Given the description of an element on the screen output the (x, y) to click on. 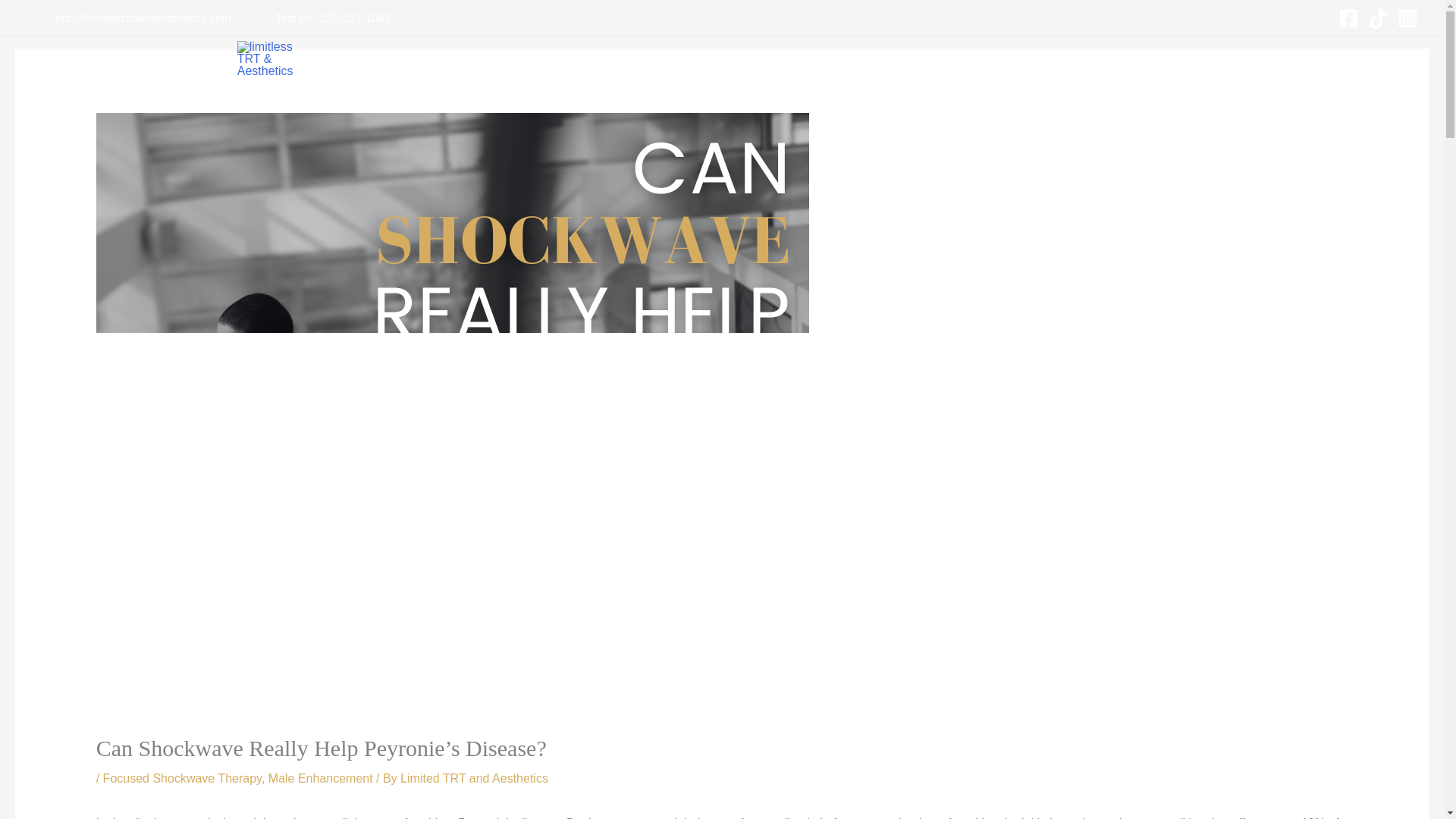
View all posts by Limited TRT and Aesthetics (474, 778)
Penis Enlargement (491, 62)
Well ProZ Lab Testing (937, 62)
1-480-400-0105 (1053, 62)
Skin Rejuvenation (703, 62)
Female Health (599, 62)
Aesthetic Services (816, 62)
